Given the description of an element on the screen output the (x, y) to click on. 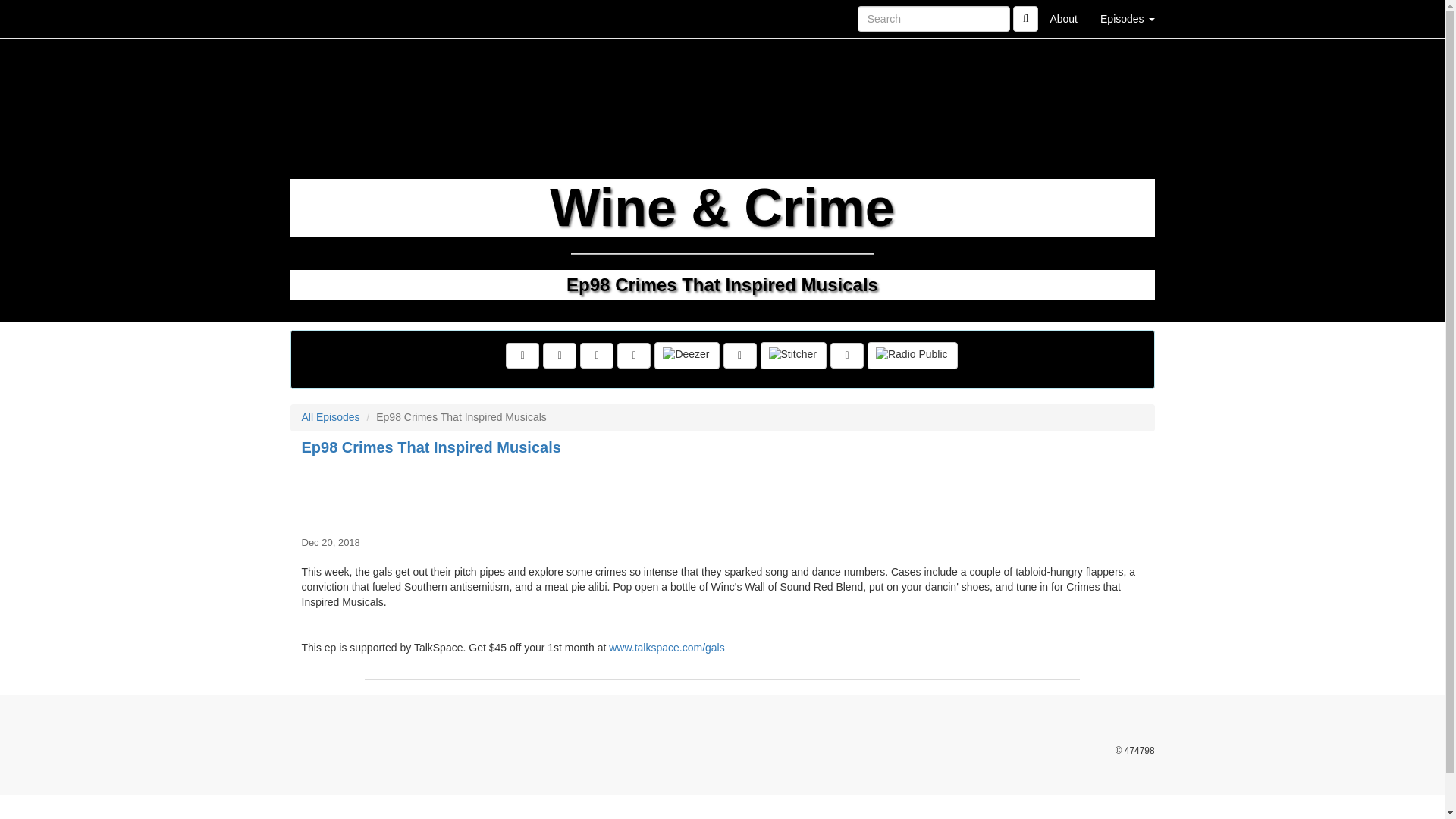
Listen on Deezer (686, 355)
About (1063, 18)
Listen on Apple Podcasts (740, 355)
Visit Us on Facebook (521, 355)
Home Page (320, 18)
Ep98 Crimes That Inspired Musicals (721, 493)
Visit Us on Twitter (559, 355)
Listen on Radio Public (912, 355)
Subscribe to RSS Feed (633, 355)
Episodes (1127, 18)
